Given the description of an element on the screen output the (x, y) to click on. 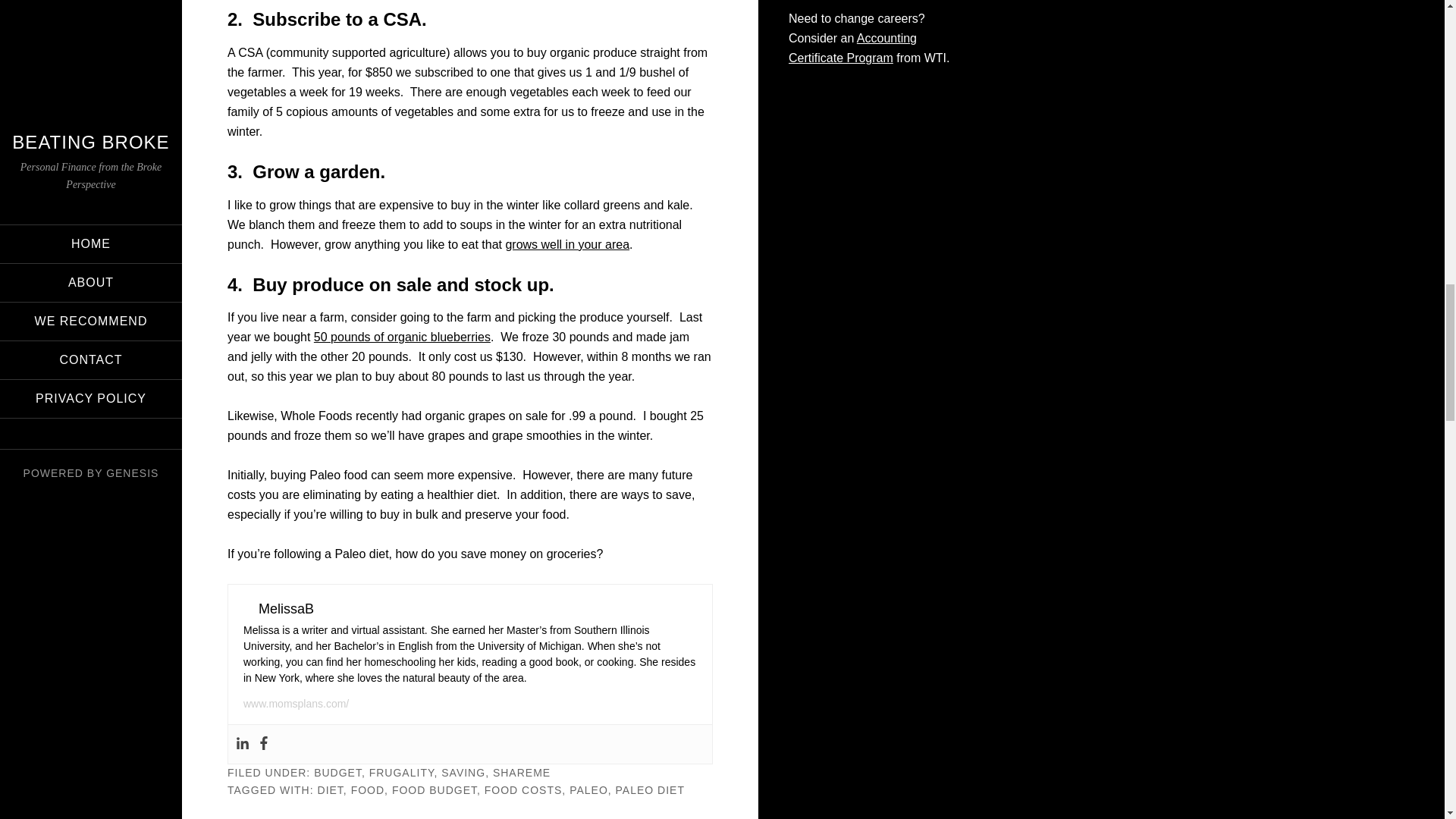
FOOD BUDGET (434, 789)
SHAREME (521, 772)
SAVING (462, 772)
50 pounds of organic blueberries (402, 336)
FRUGALITY (401, 772)
MelissaB (286, 608)
PALEO DIET (649, 789)
PALEO (588, 789)
BUDGET (337, 772)
FOOD COSTS (523, 789)
